Given the description of an element on the screen output the (x, y) to click on. 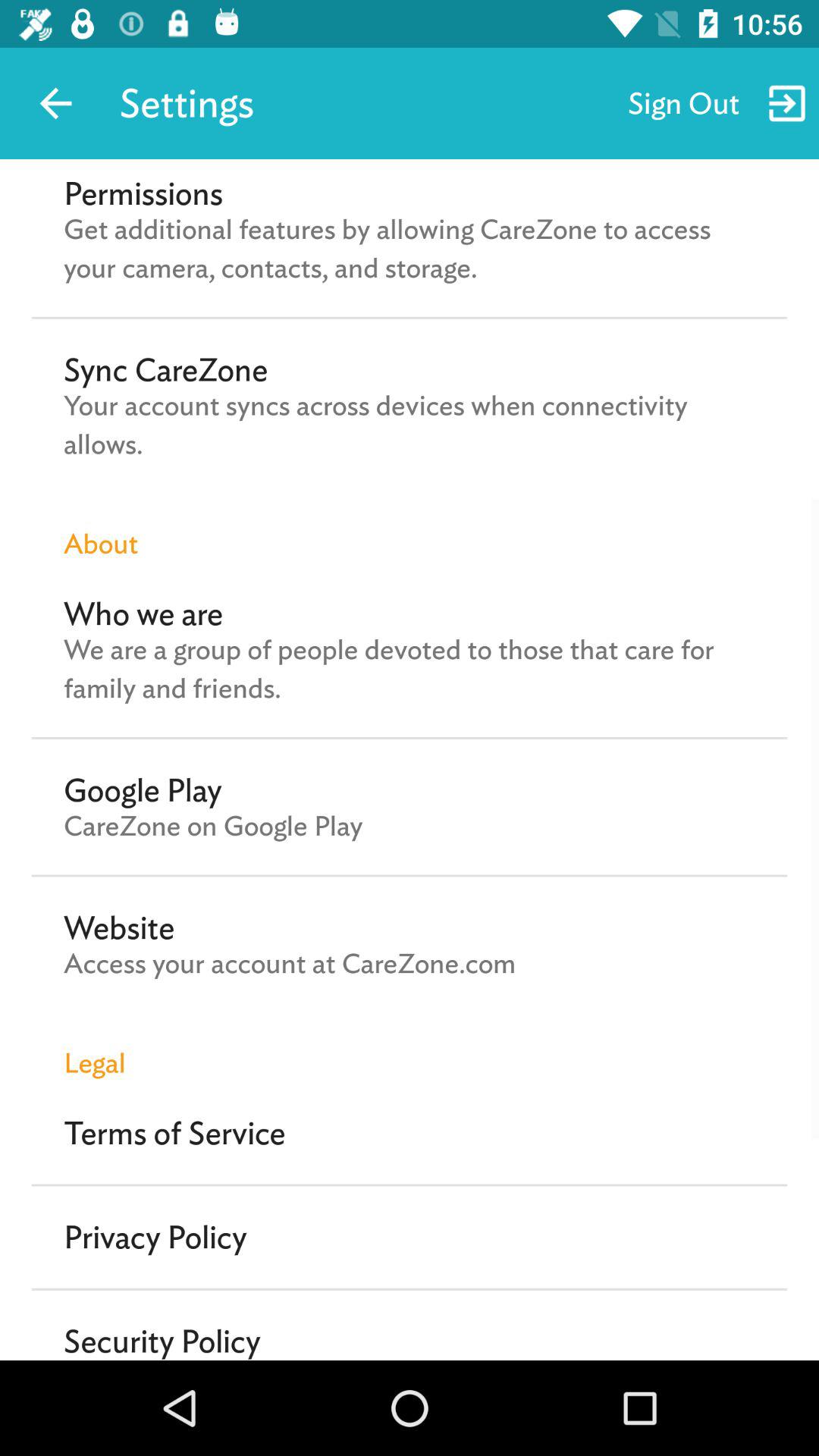
go back (55, 103)
